Given the description of an element on the screen output the (x, y) to click on. 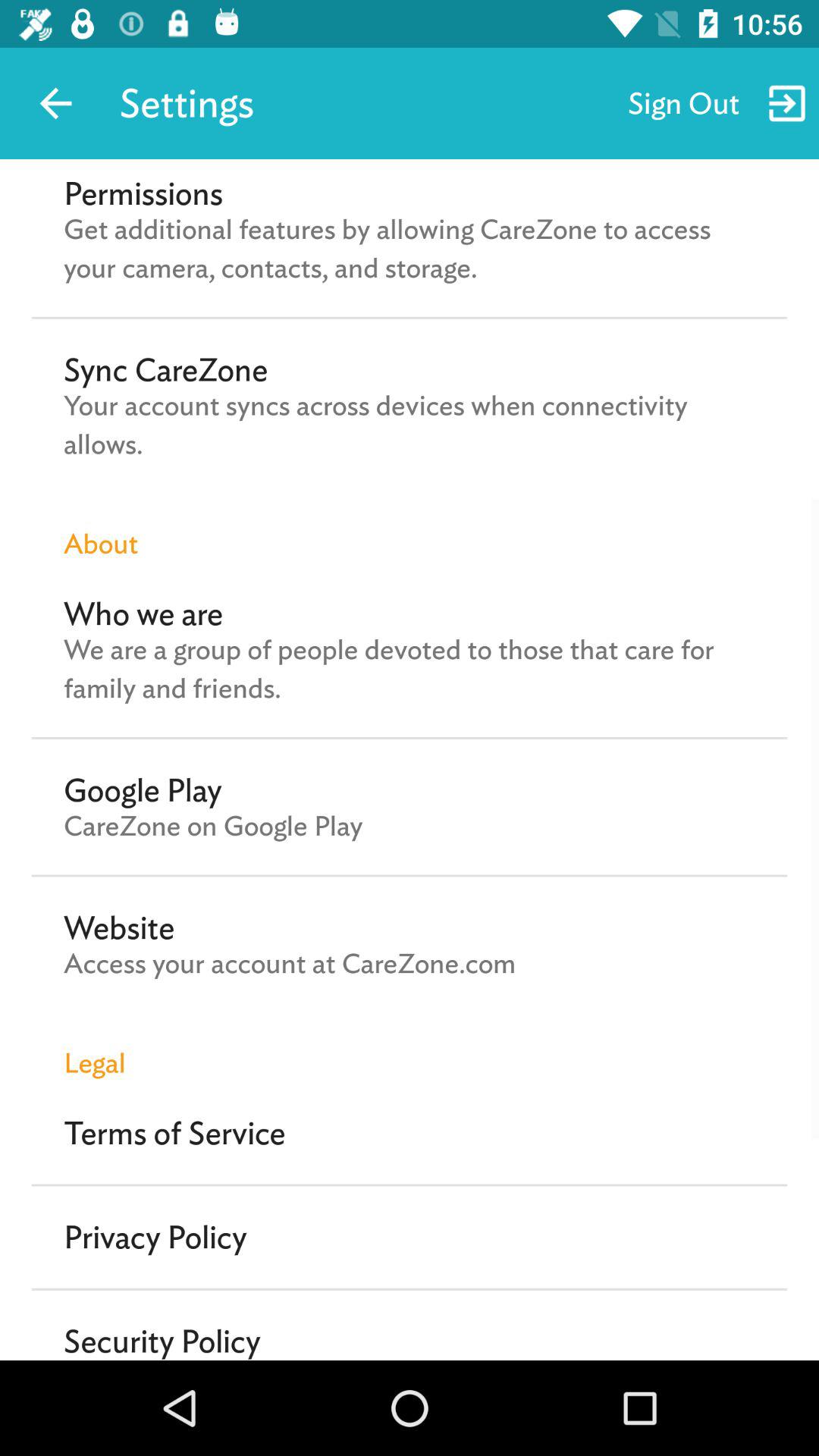
go back (55, 103)
